Given the description of an element on the screen output the (x, y) to click on. 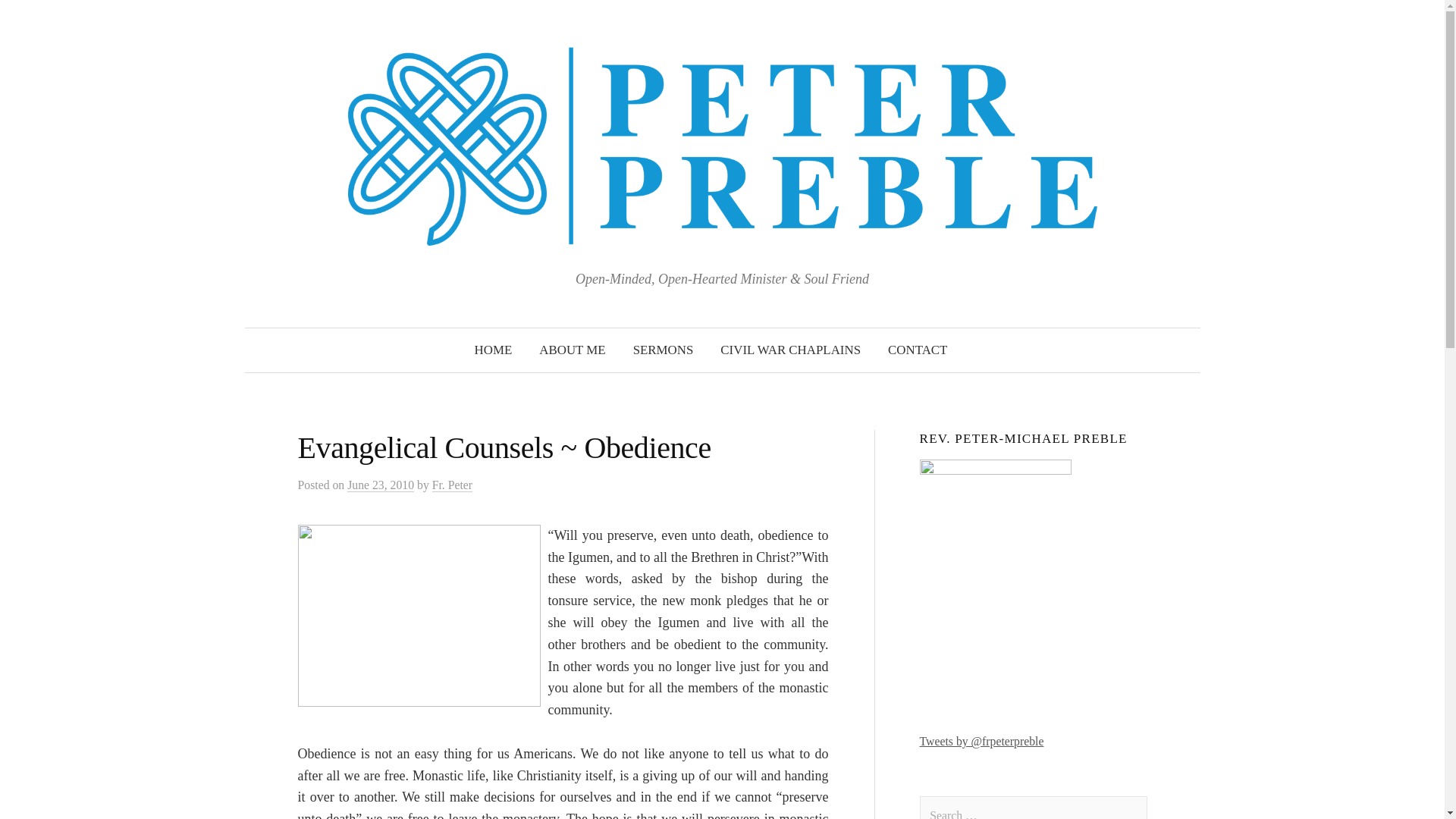
View all posts by Fr. Peter (451, 485)
Search (40, 18)
June 23, 2010 (380, 485)
Search (18, 18)
CONTACT (917, 350)
Fr. Peter (451, 485)
CIVIL WAR CHAPLAINS (790, 350)
HOME (493, 350)
ABOUT ME (571, 350)
SERMONS (663, 350)
